Given the description of an element on the screen output the (x, y) to click on. 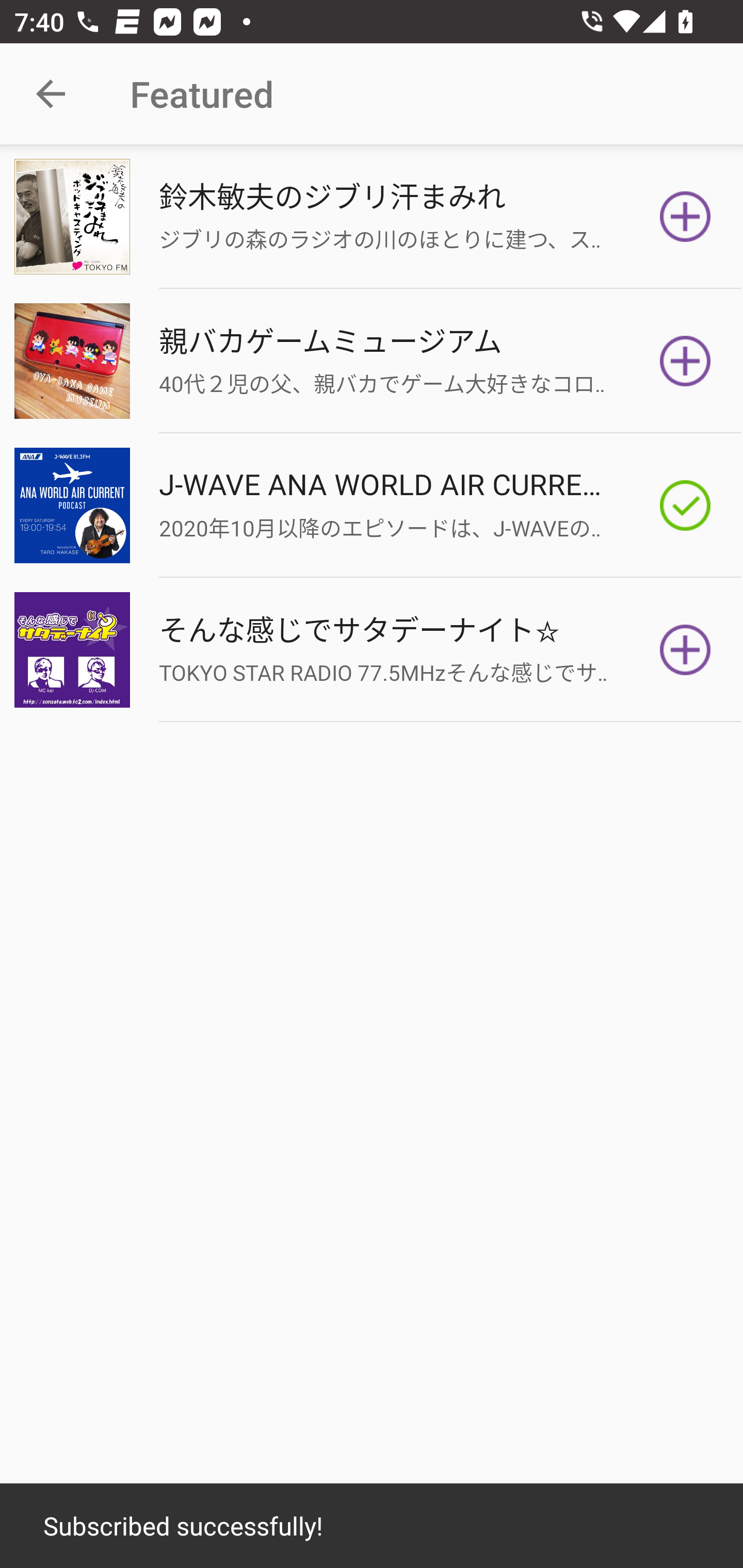
Navigate up (50, 93)
Subscribe (685, 216)
Subscribe (685, 360)
Subscribed (685, 505)
Subscribe (685, 649)
Subscribed successfully! (371, 1525)
